Given the description of an element on the screen output the (x, y) to click on. 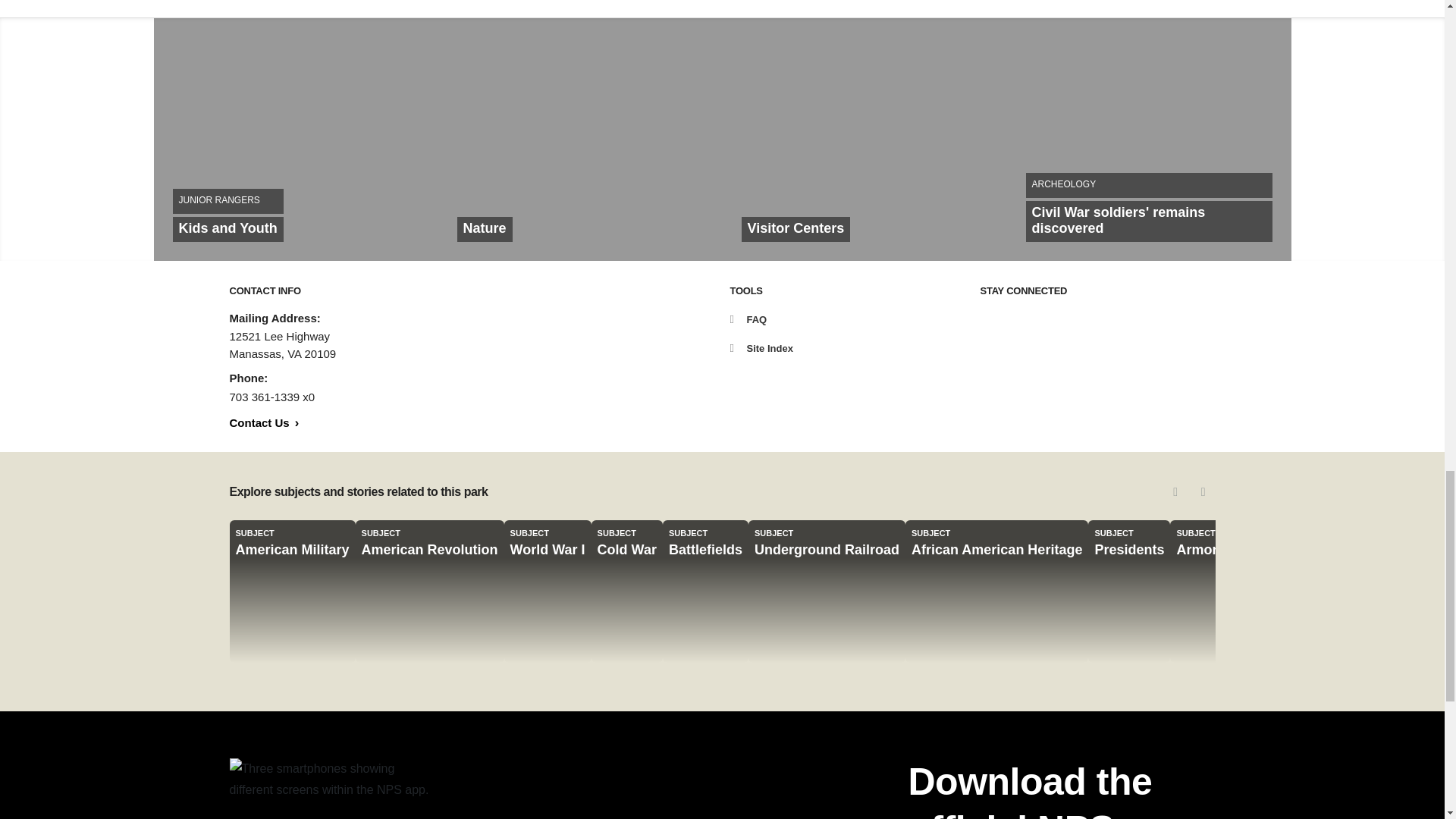
Contact Us (263, 422)
Nature (580, 139)
Visitor Centers (295, 139)
